Given the description of an element on the screen output the (x, y) to click on. 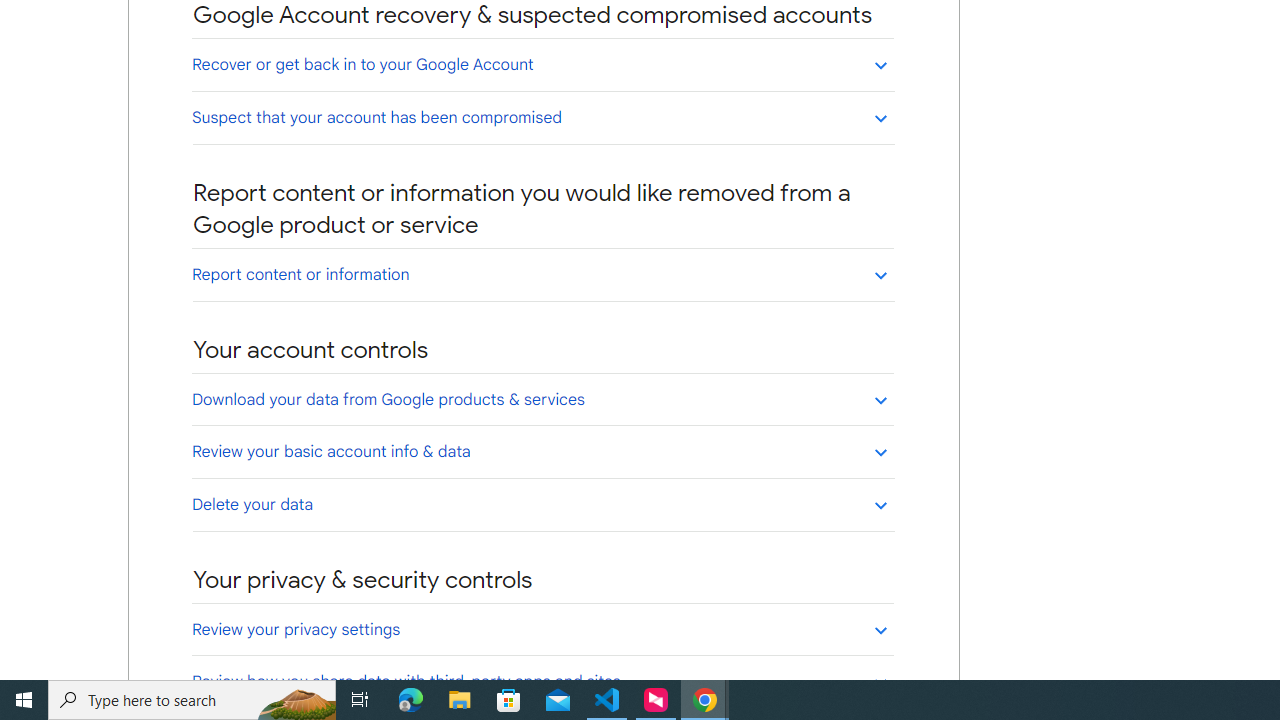
Suspect that your account has been compromised (542, 117)
Recover or get back in to your Google Account (542, 64)
Review how you share data with third-party apps and sites (542, 681)
Download your data from Google products & services (542, 399)
Review your privacy settings (542, 629)
Report content or information (542, 273)
Delete your data (542, 504)
Review your basic account info & data (542, 451)
